Given the description of an element on the screen output the (x, y) to click on. 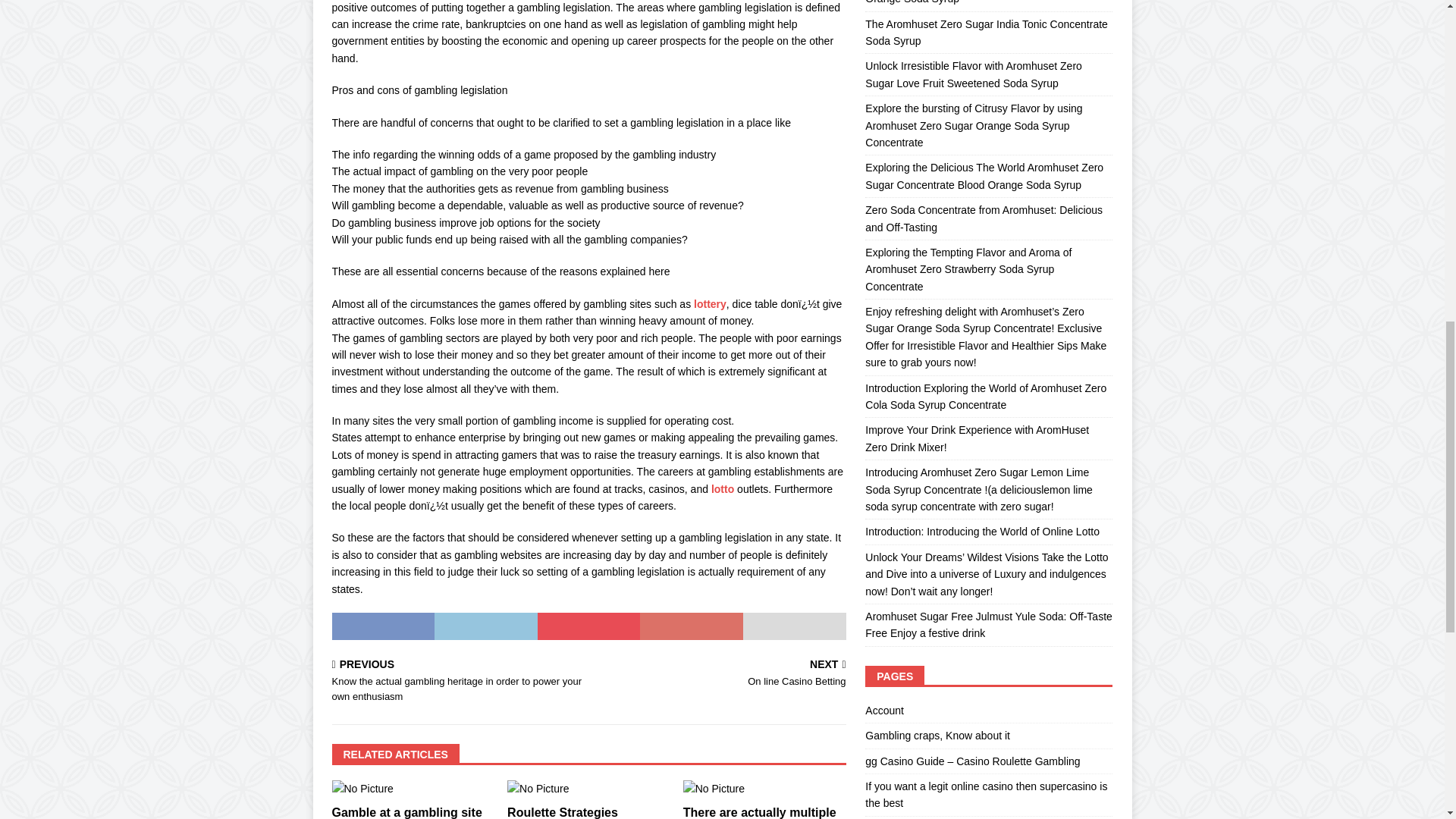
lottery (710, 304)
lotto (722, 489)
Roulette Strategies (561, 812)
